Given the description of an element on the screen output the (x, y) to click on. 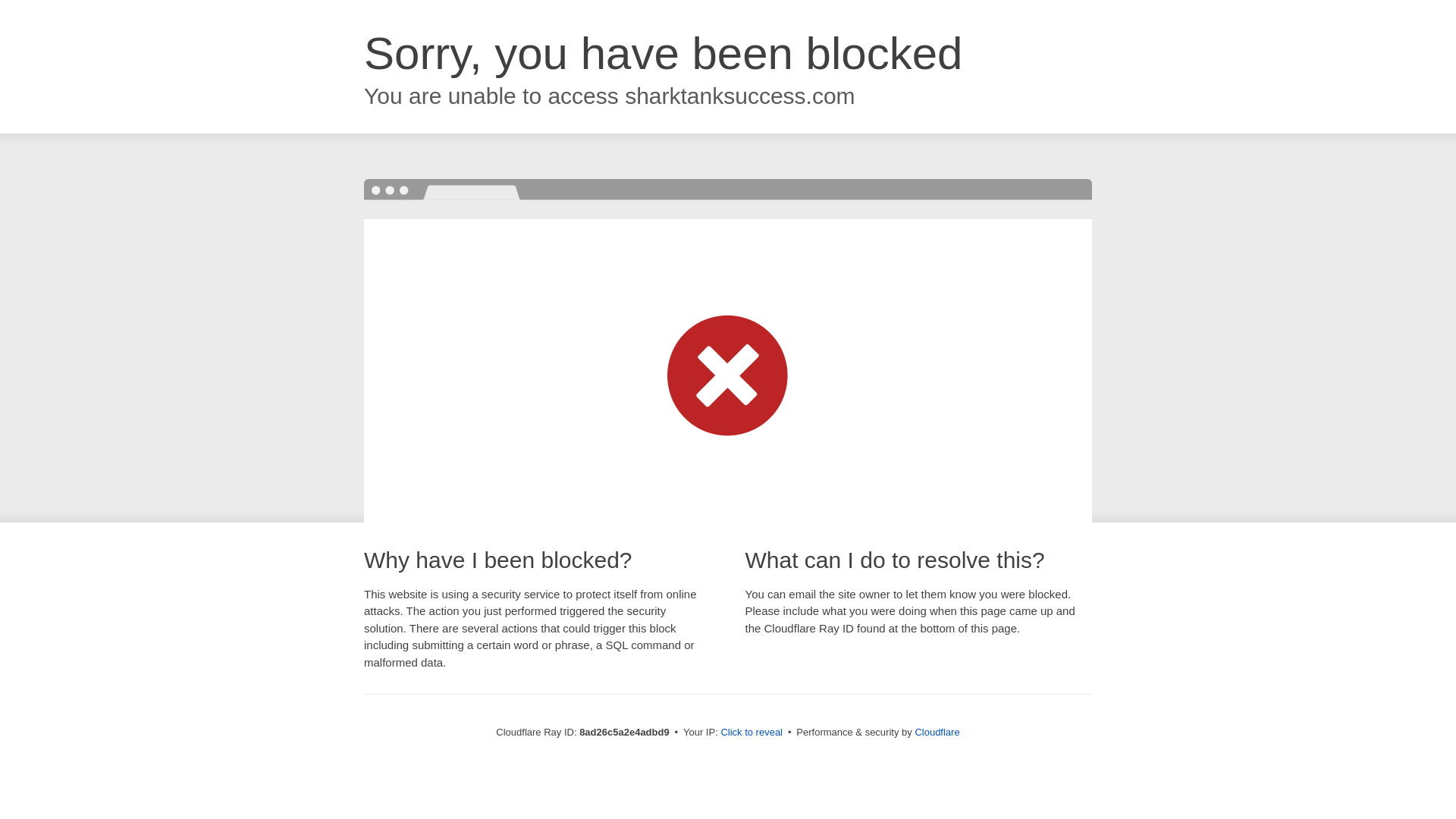
Click to reveal (751, 732)
Cloudflare (936, 731)
